Given the description of an element on the screen output the (x, y) to click on. 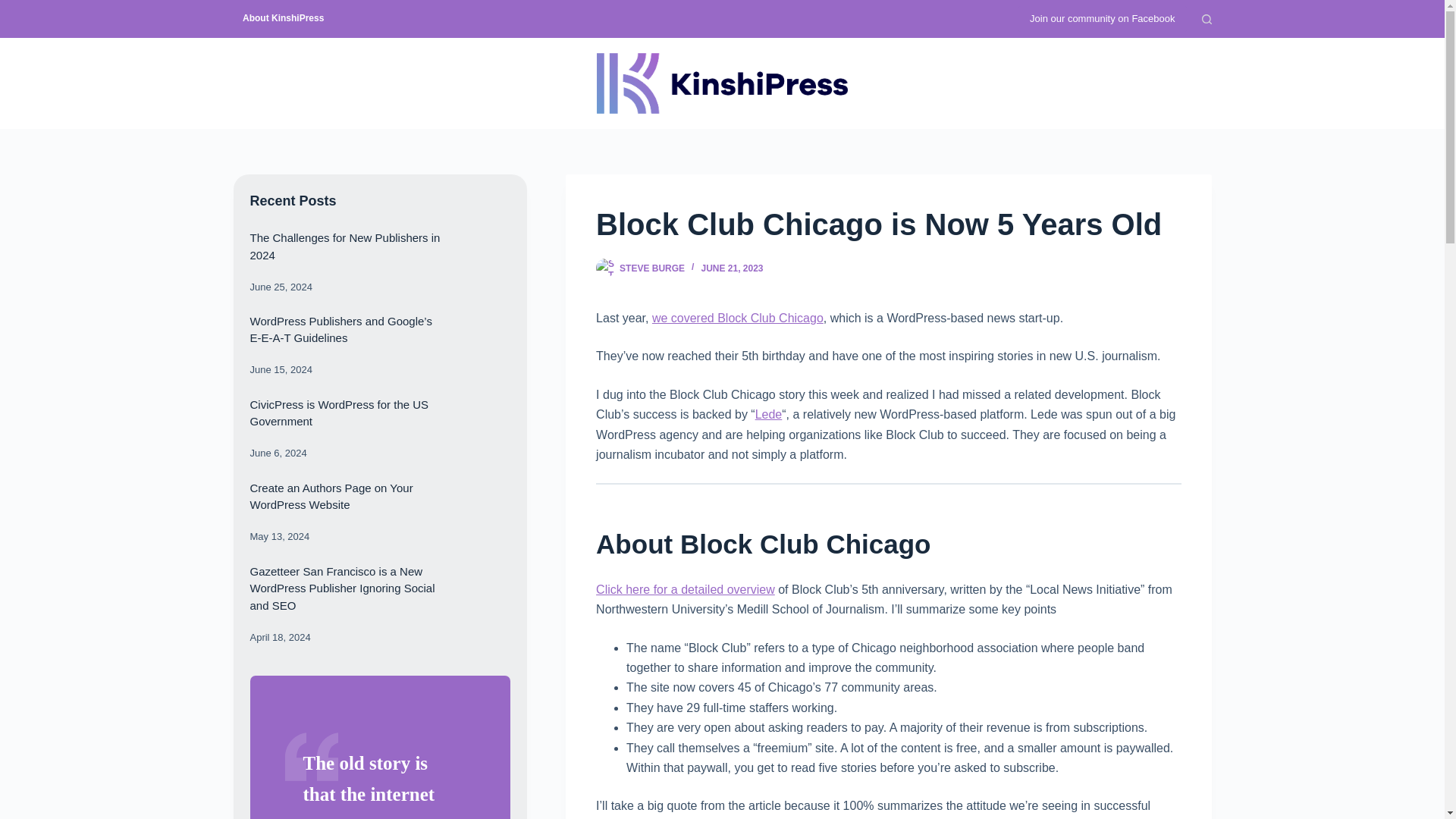
The Challenges for New Publishers in 2024 (345, 245)
Create an Authors Page on Your WordPress Website (331, 496)
Block Club Chicago is Now 5 Years Old (887, 224)
we covered Block Club Chicago (738, 318)
STEVE BURGE (652, 267)
Join our community on Facebook (1101, 18)
Lede (769, 413)
Skip to content (15, 7)
Posts by Steve Burge (652, 267)
CivicPress is WordPress for the US Government (339, 413)
Click here for a detailed overview (684, 589)
About KinshiPress (282, 18)
